Given the description of an element on the screen output the (x, y) to click on. 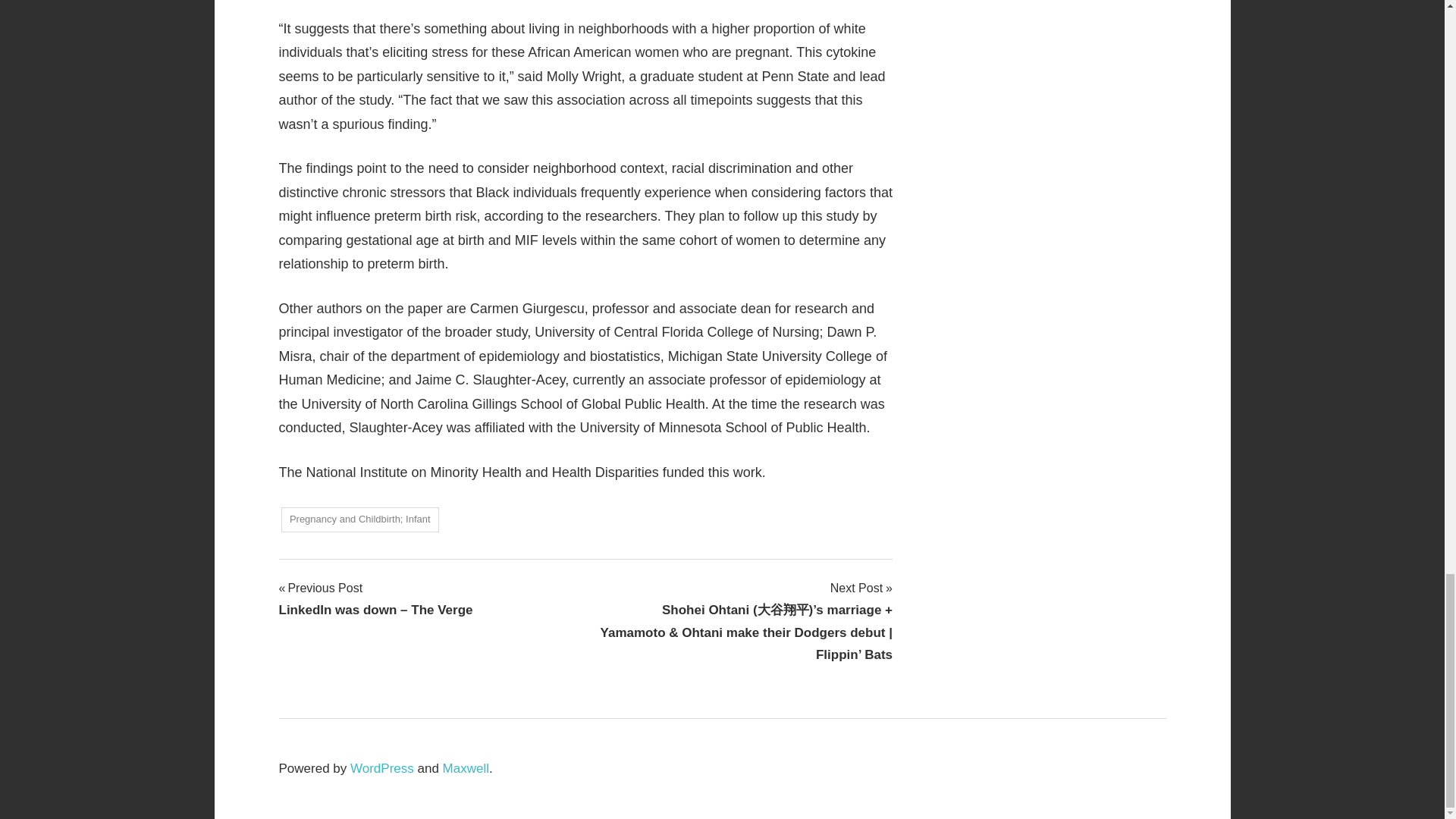
WordPress (381, 768)
Maxwell WordPress Theme (465, 768)
Maxwell (465, 768)
Pregnancy and Childbirth; Infant (360, 519)
WordPress (381, 768)
